Given the description of an element on the screen output the (x, y) to click on. 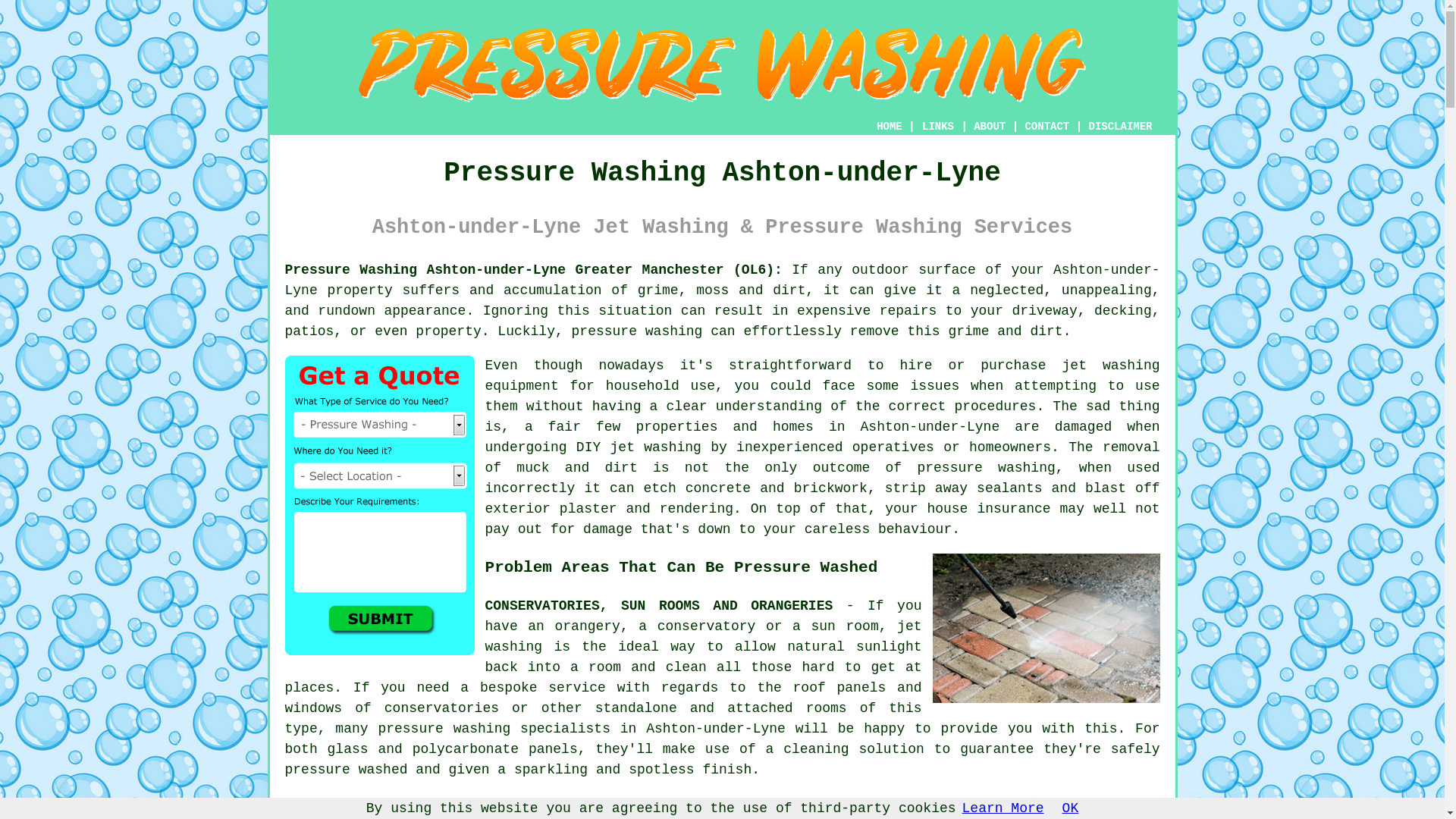
Pressure Washing Ashton-under-Lyne (721, 64)
pressure washing (637, 331)
conservatories (441, 708)
HOME (889, 126)
LINKS (938, 126)
